Given the description of an element on the screen output the (x, y) to click on. 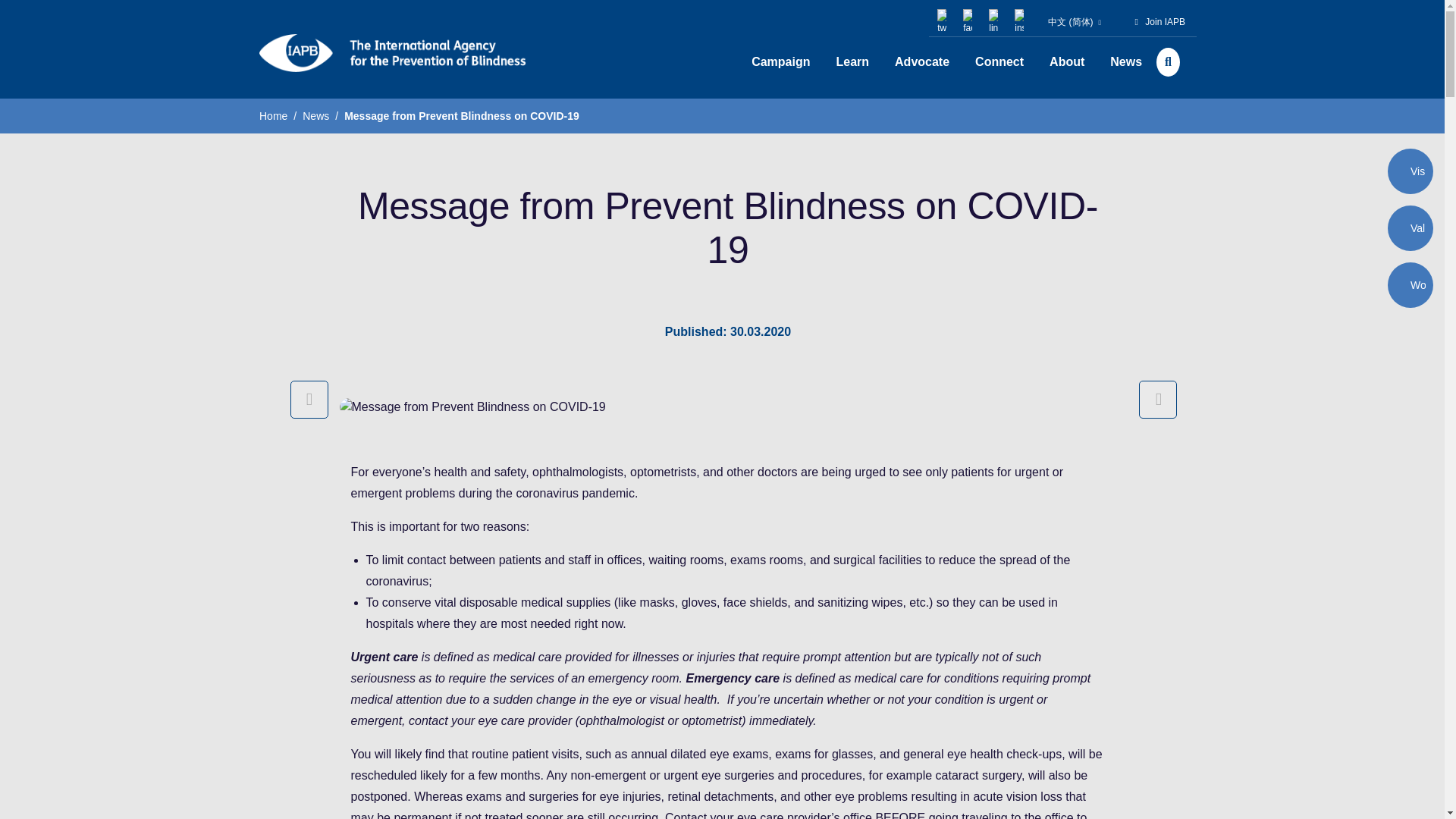
Join IAPB (1164, 21)
Campaign (780, 61)
Learn (852, 61)
IAPB Home Page (392, 53)
